Given the description of an element on the screen output the (x, y) to click on. 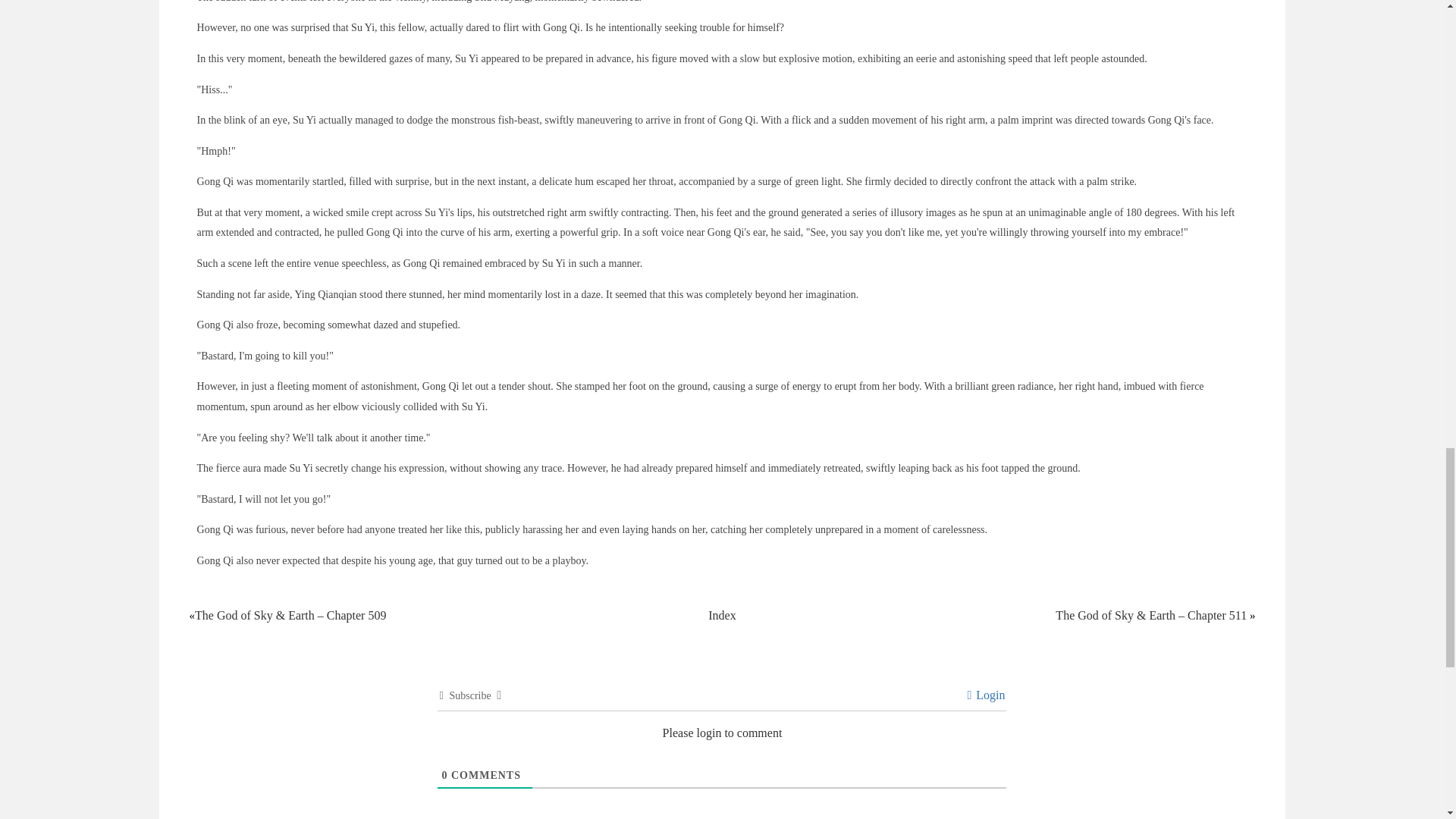
Login (985, 694)
Index (721, 615)
